Given the description of an element on the screen output the (x, y) to click on. 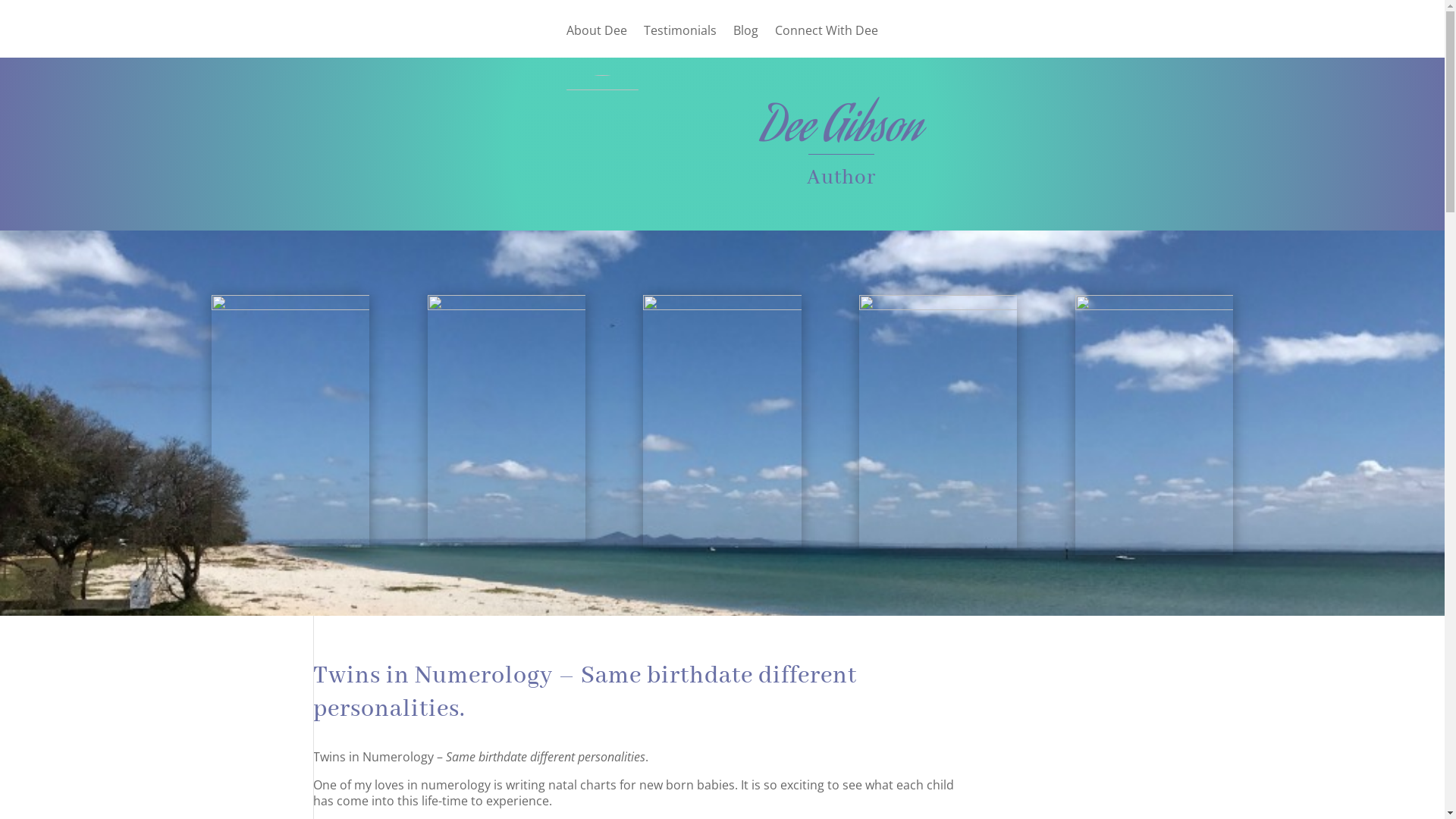
clucky resized Element type: hover (937, 421)
resized numbers and vibrations-page-001 Element type: hover (506, 418)
resized SSecret Meaning of your Babies COVER JPG Element type: hover (290, 420)
About Dee Element type: text (596, 41)
Connect With Dee Element type: text (826, 41)
resized JACK1numbersdee_ebook Element type: hover (1154, 424)
resized careerebook2 Element type: hover (721, 420)
Dee-Image-4 Element type: hover (602, 137)
Testimonials Element type: text (679, 41)
Blog Element type: text (745, 41)
